Given the description of an element on the screen output the (x, y) to click on. 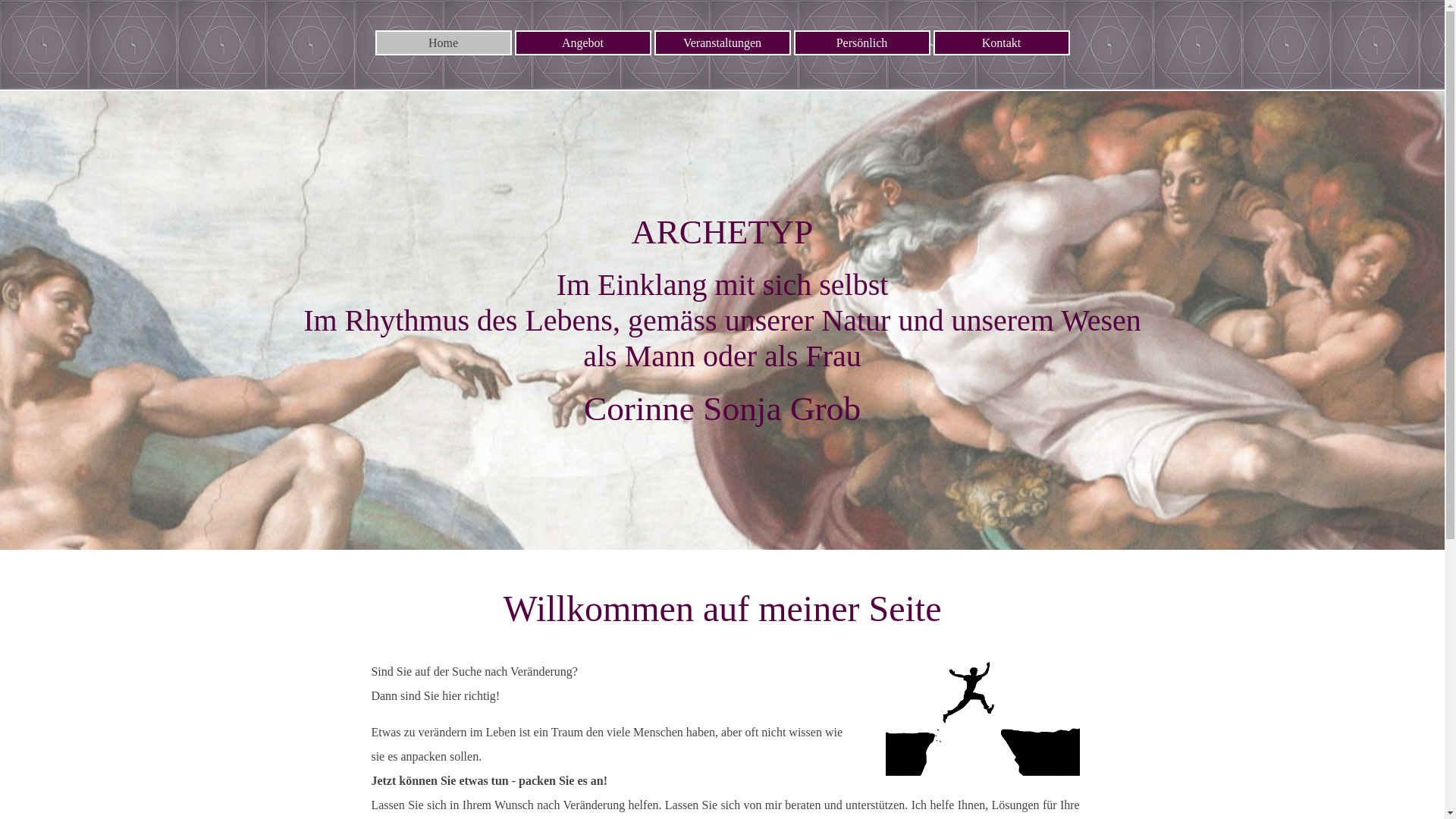
Home Element type: text (442, 42)
ARCHETYP Element type: text (721, 232)
Kontakt Element type: text (1000, 42)
